Given the description of an element on the screen output the (x, y) to click on. 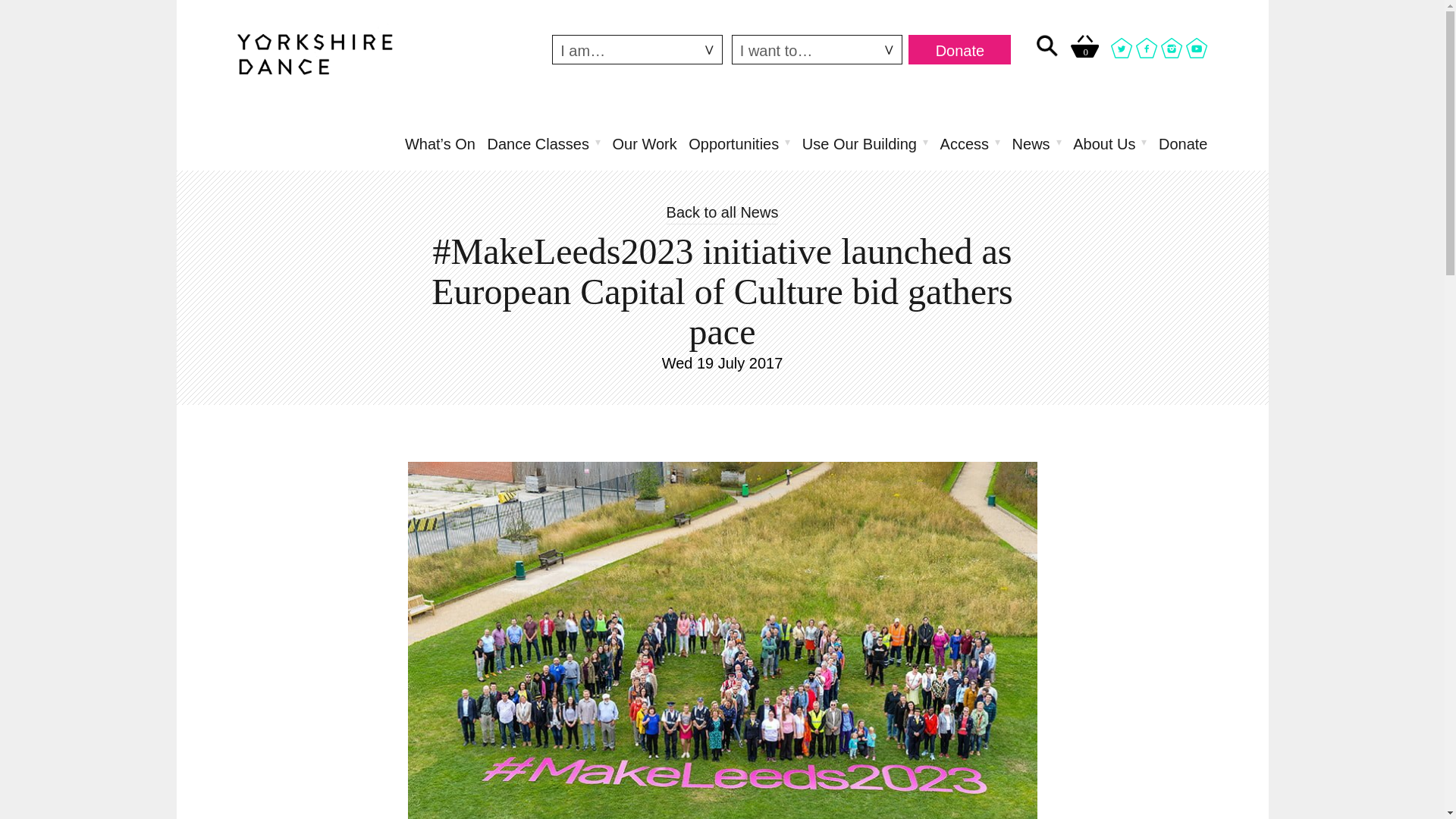
Our Work (644, 142)
Use Our Building (865, 142)
Dance Classes (542, 142)
Yorkshire Dance (313, 51)
Access (970, 142)
Donate (959, 49)
News (1036, 142)
Opportunities (739, 142)
